Given the description of an element on the screen output the (x, y) to click on. 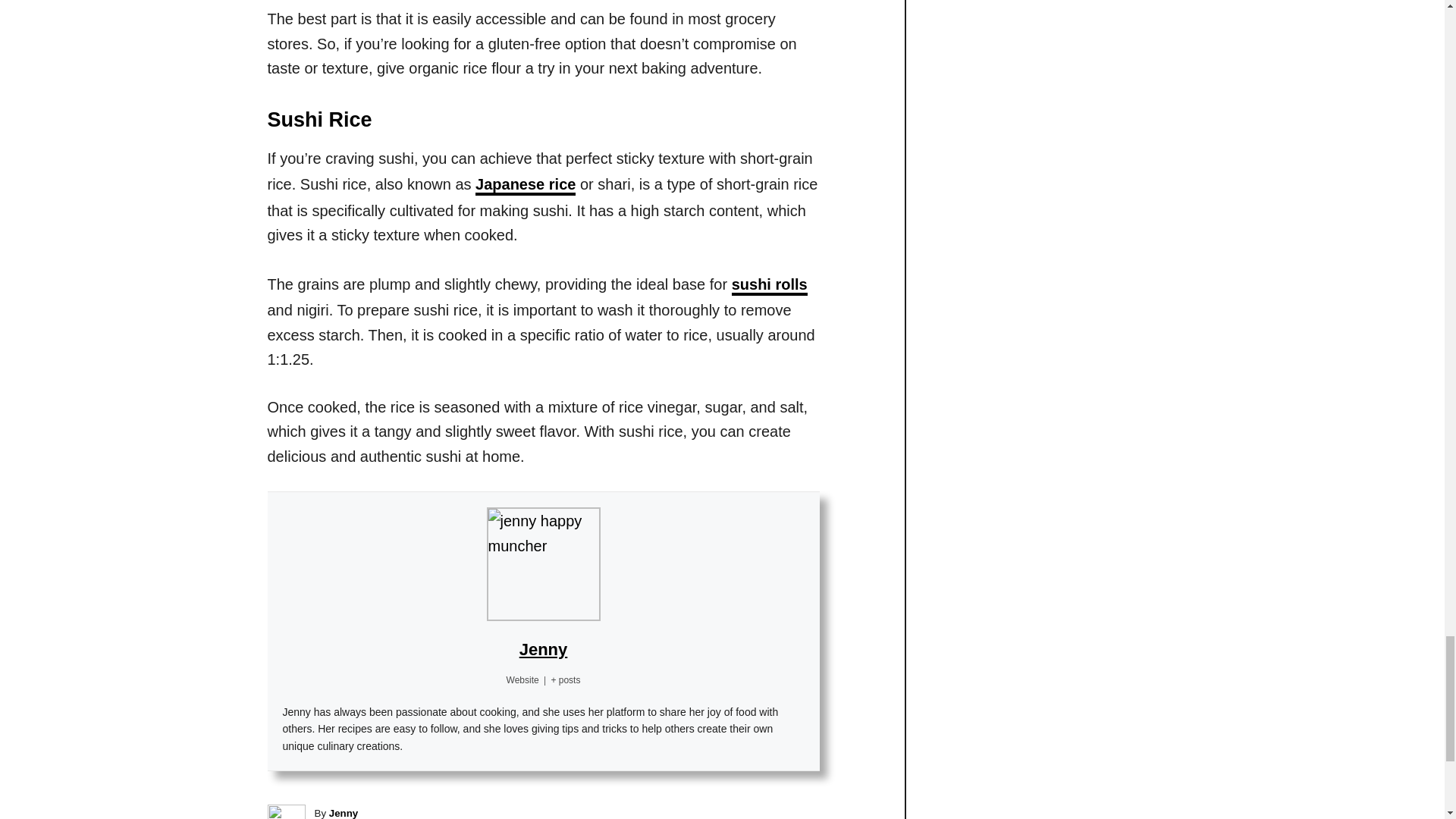
Website (522, 679)
Jenny (343, 813)
sushi rolls (770, 285)
sushi rolls (770, 285)
Jenny (543, 649)
Japanese rice (525, 185)
Japanese rice (525, 185)
